Given the description of an element on the screen output the (x, y) to click on. 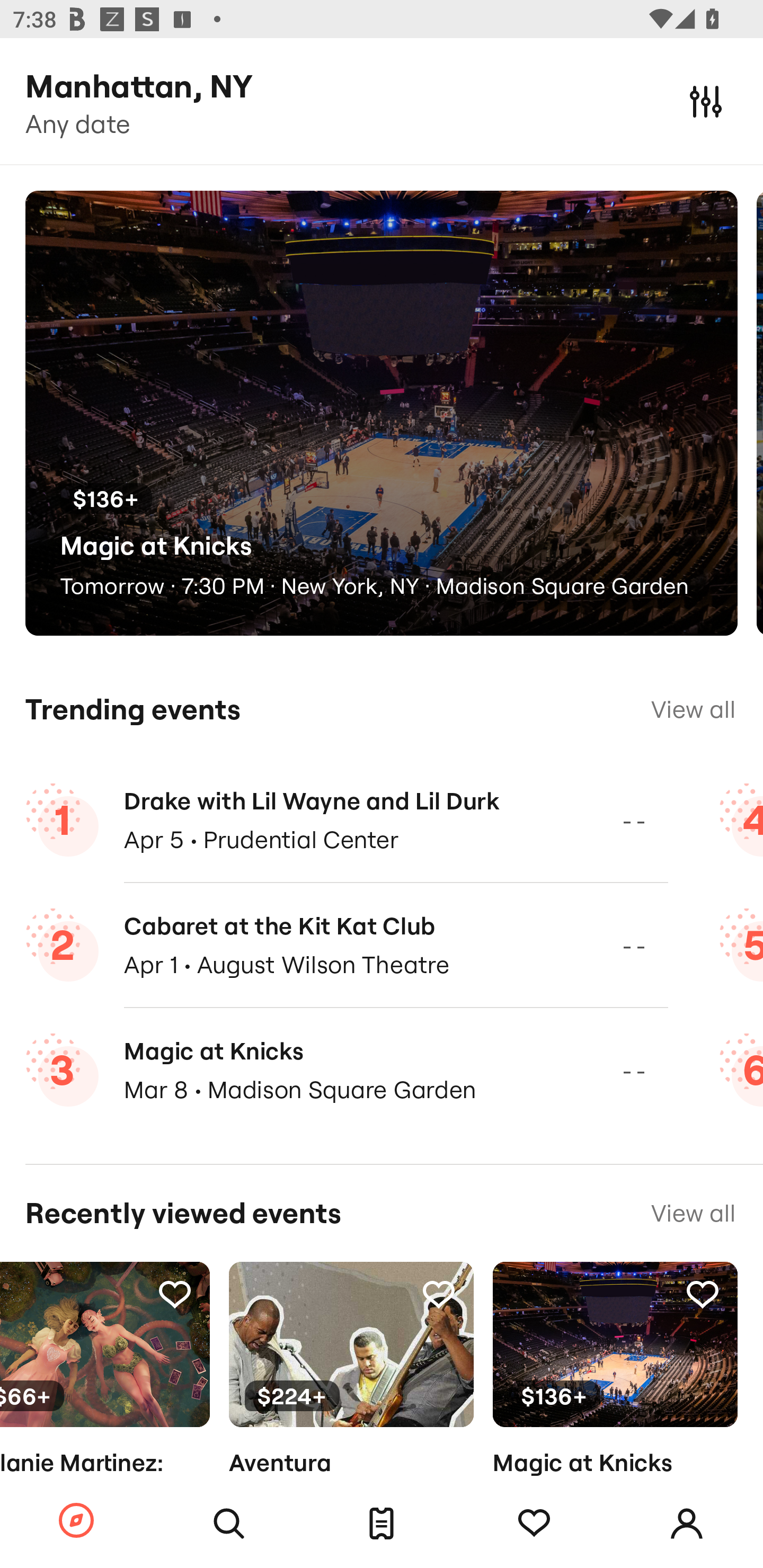
Filters (705, 100)
View all (693, 709)
View all (693, 1213)
Tracking $224+ Aventura Thu, May 30, 8 PM (350, 1399)
Tracking $136+ Magic at Knicks Tomorrow · 7:30 PM (614, 1399)
Tracking (174, 1293)
Tracking (438, 1293)
Tracking (702, 1293)
Browse (76, 1521)
Search (228, 1523)
Tickets (381, 1523)
Tracking (533, 1523)
Account (686, 1523)
